Given the description of an element on the screen output the (x, y) to click on. 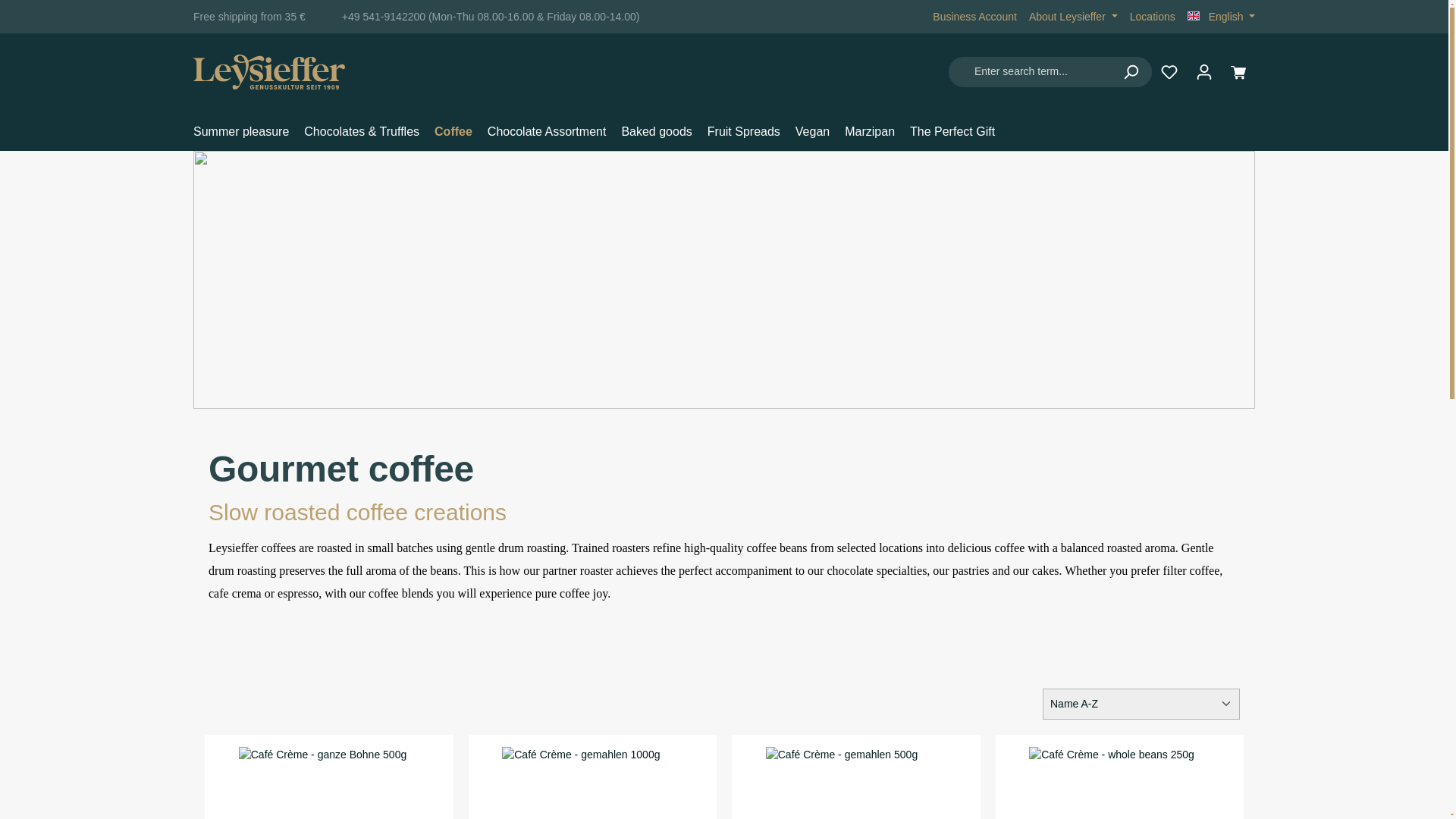
Business Account (974, 17)
Your account (1203, 71)
English (1221, 16)
Summer pleasure (248, 133)
 Chocolate Assortment (554, 133)
Locations (1151, 17)
Vegan (819, 133)
Baked goods (663, 133)
Wishlist (1168, 71)
The Perfect Gift (960, 133)
